Given the description of an element on the screen output the (x, y) to click on. 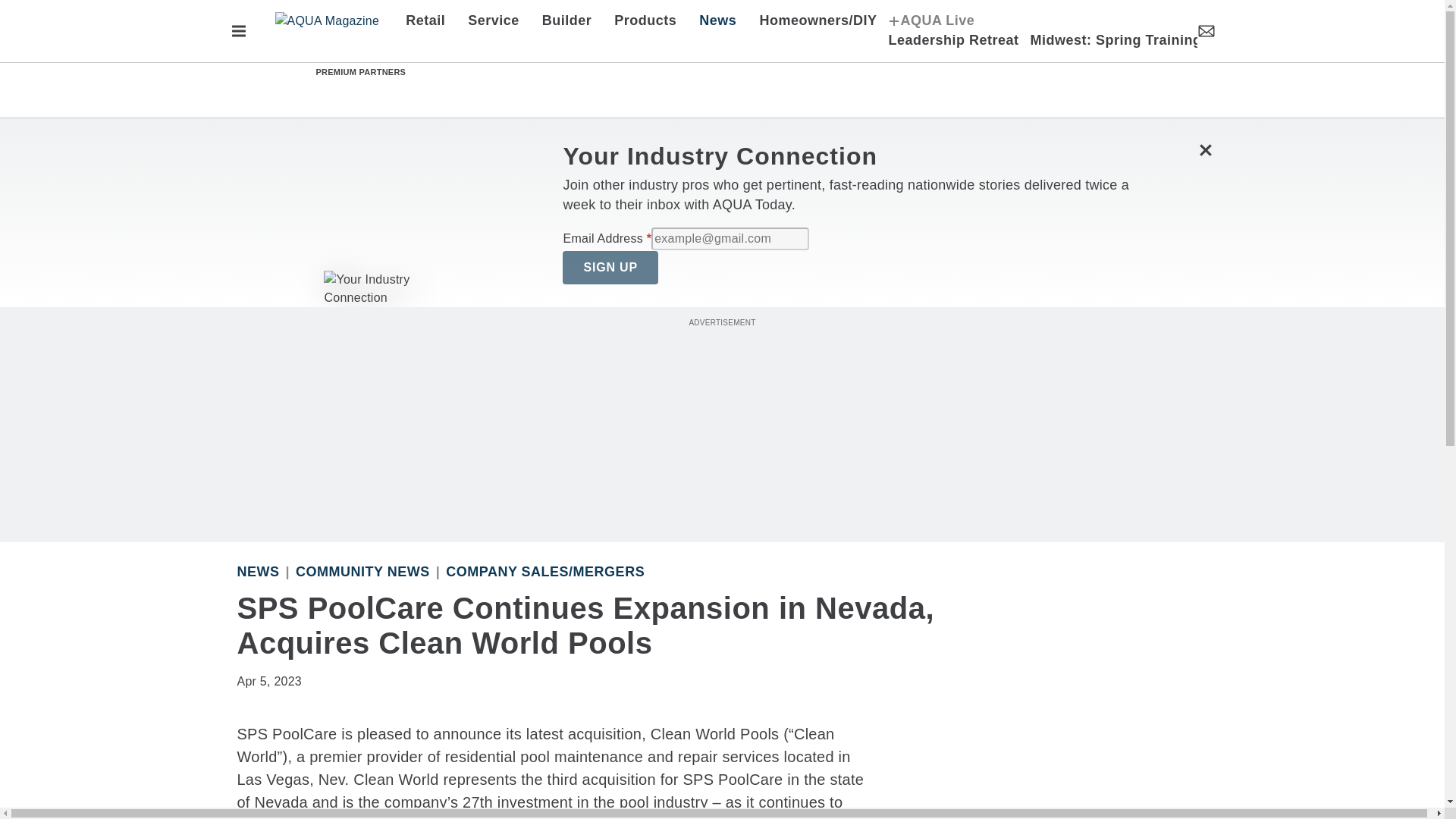
AQUA Live (931, 21)
Service (494, 21)
Retail (431, 21)
Builder (567, 21)
Midwest: Spring Training (1110, 40)
Products (644, 21)
News (717, 21)
Leadership Retreat (952, 40)
